Given the description of an element on the screen output the (x, y) to click on. 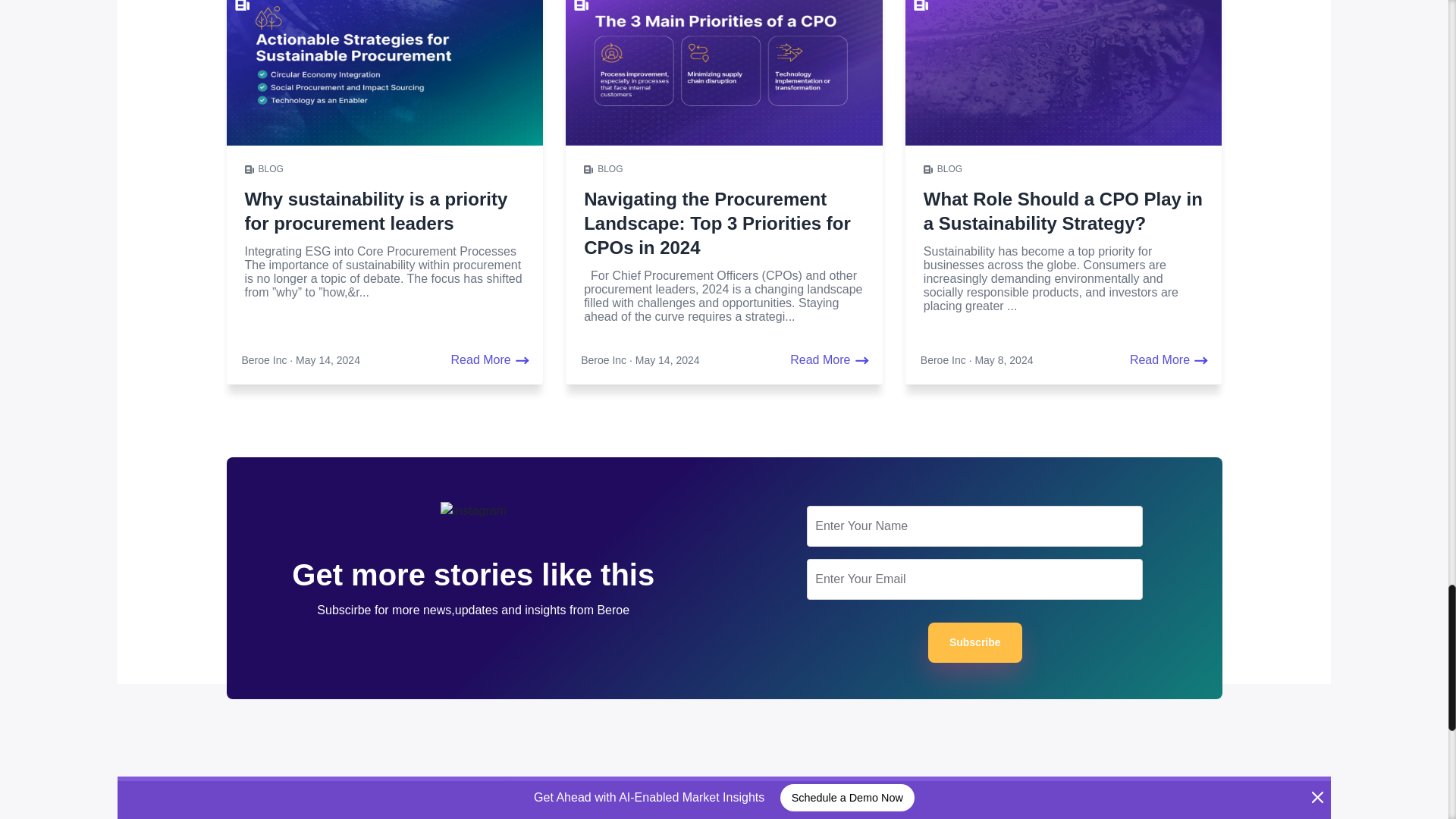
Subscribe (975, 642)
Please enter a valid email address (974, 578)
Please enter a valid name (974, 526)
